Given the description of an element on the screen output the (x, y) to click on. 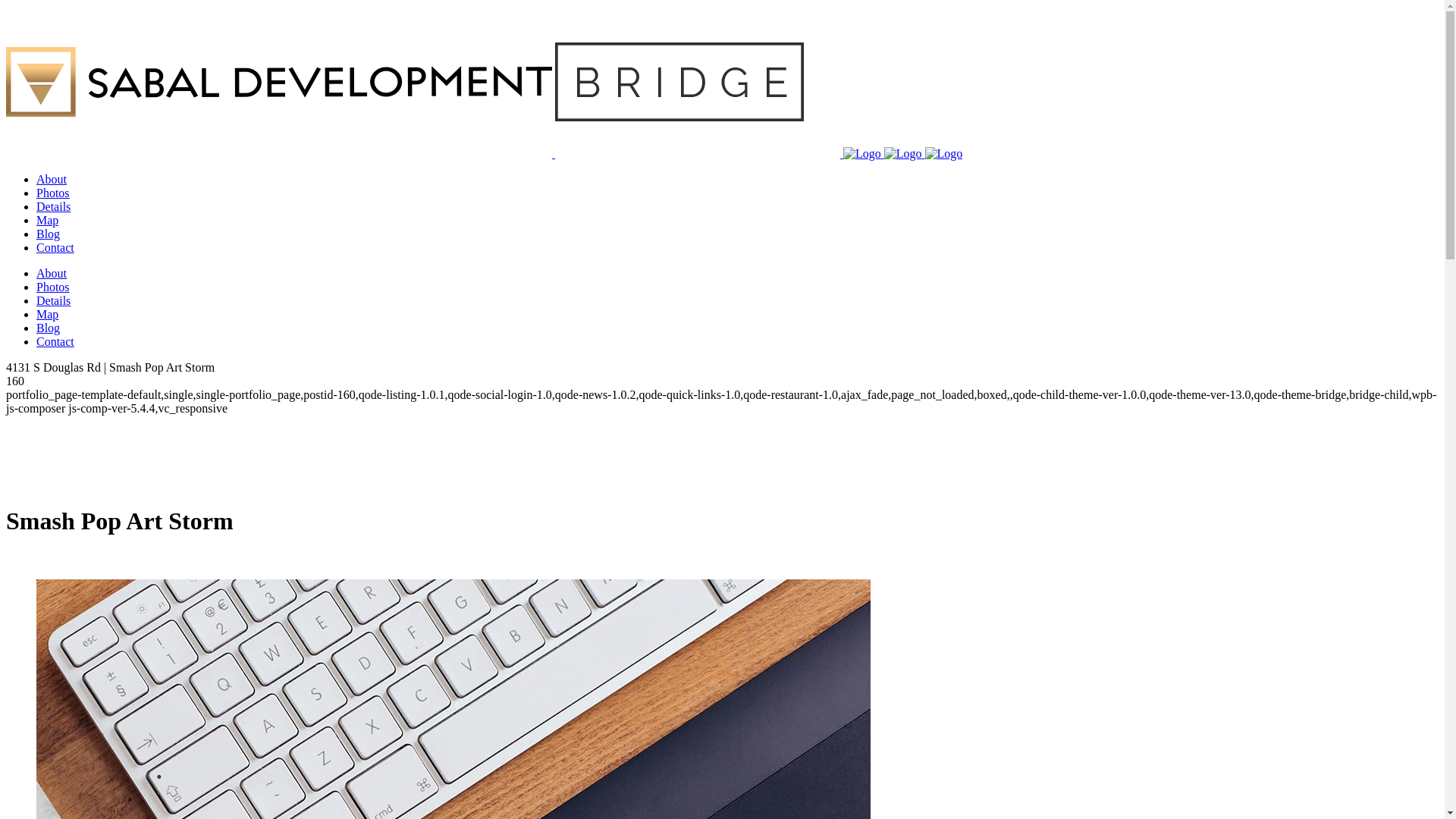
Details Element type: text (53, 206)
Map Element type: text (47, 219)
Contact Element type: text (55, 341)
Blog Element type: text (47, 233)
Map Element type: text (47, 313)
About Element type: text (51, 178)
About Element type: text (51, 272)
Contact Element type: text (55, 247)
Details Element type: text (53, 300)
Photos Element type: text (52, 192)
Photos Element type: text (52, 286)
Blog Element type: text (47, 327)
